Given the description of an element on the screen output the (x, y) to click on. 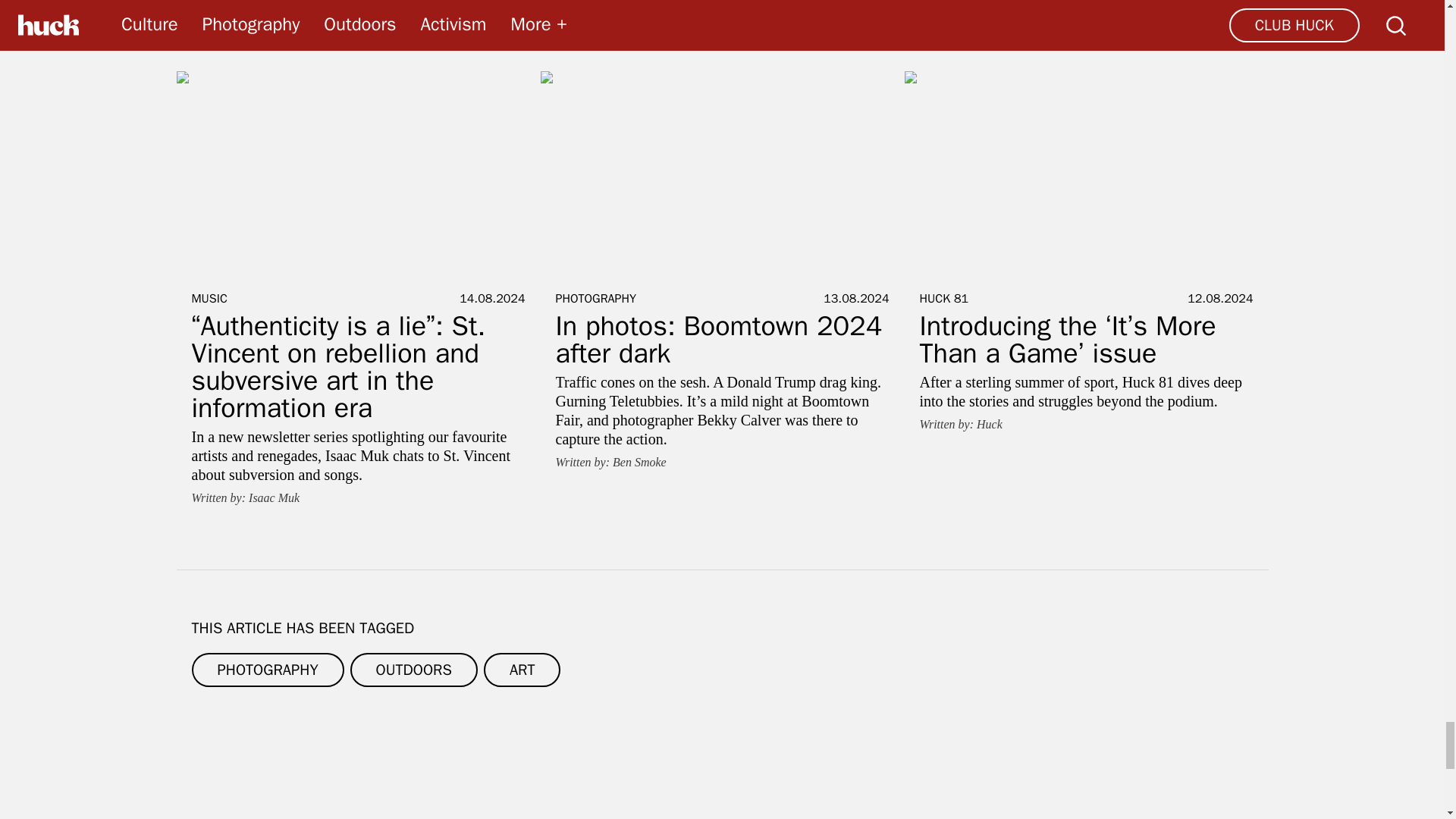
ART (521, 669)
PHOTOGRAPHY (266, 669)
OUTDOORS (413, 669)
